Given the description of an element on the screen output the (x, y) to click on. 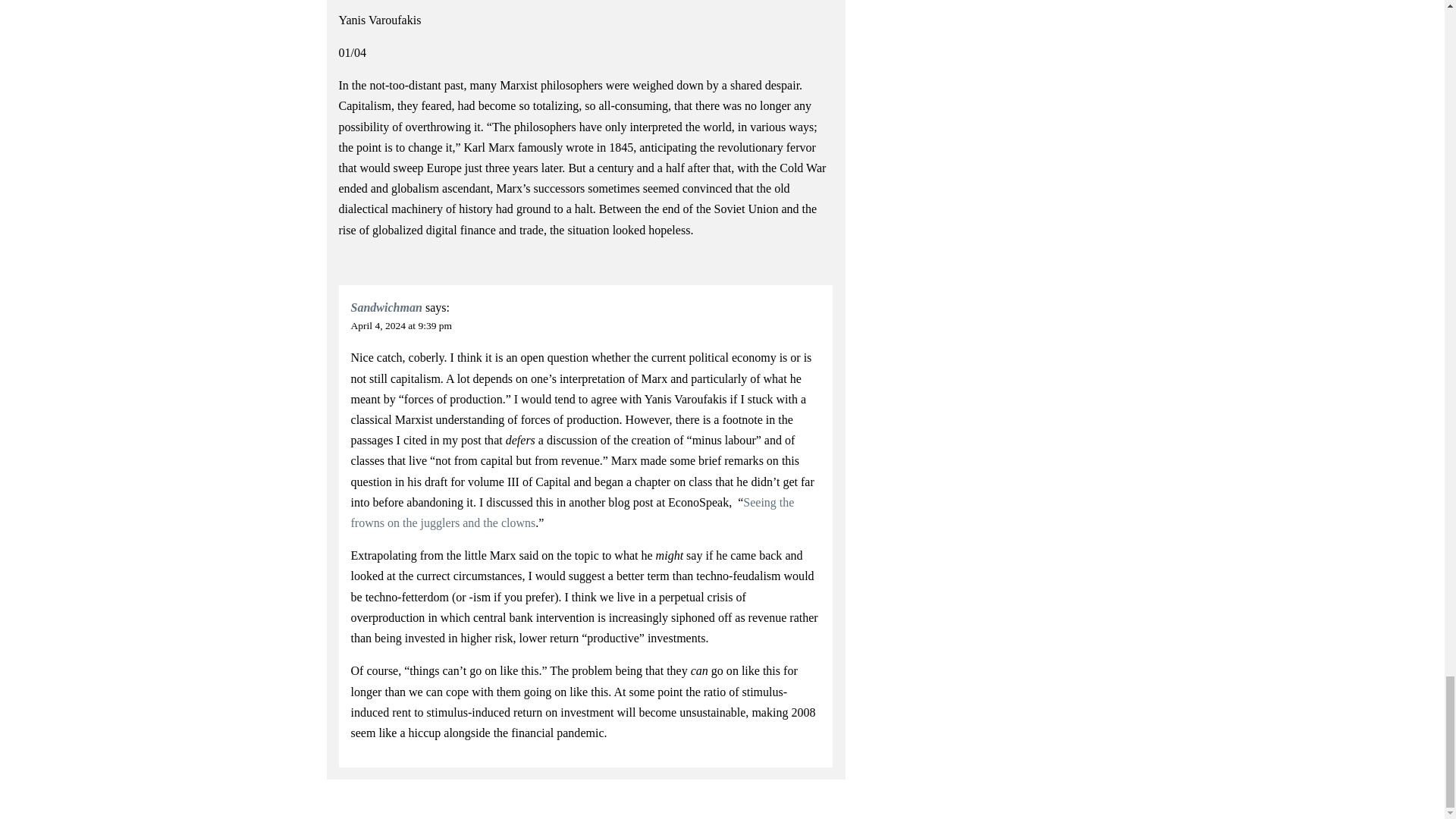
April 4, 2024 at 9:39 pm (401, 325)
Seeing the frowns on the jugglers and the clowns (572, 512)
Sandwichman (386, 307)
